Given the description of an element on the screen output the (x, y) to click on. 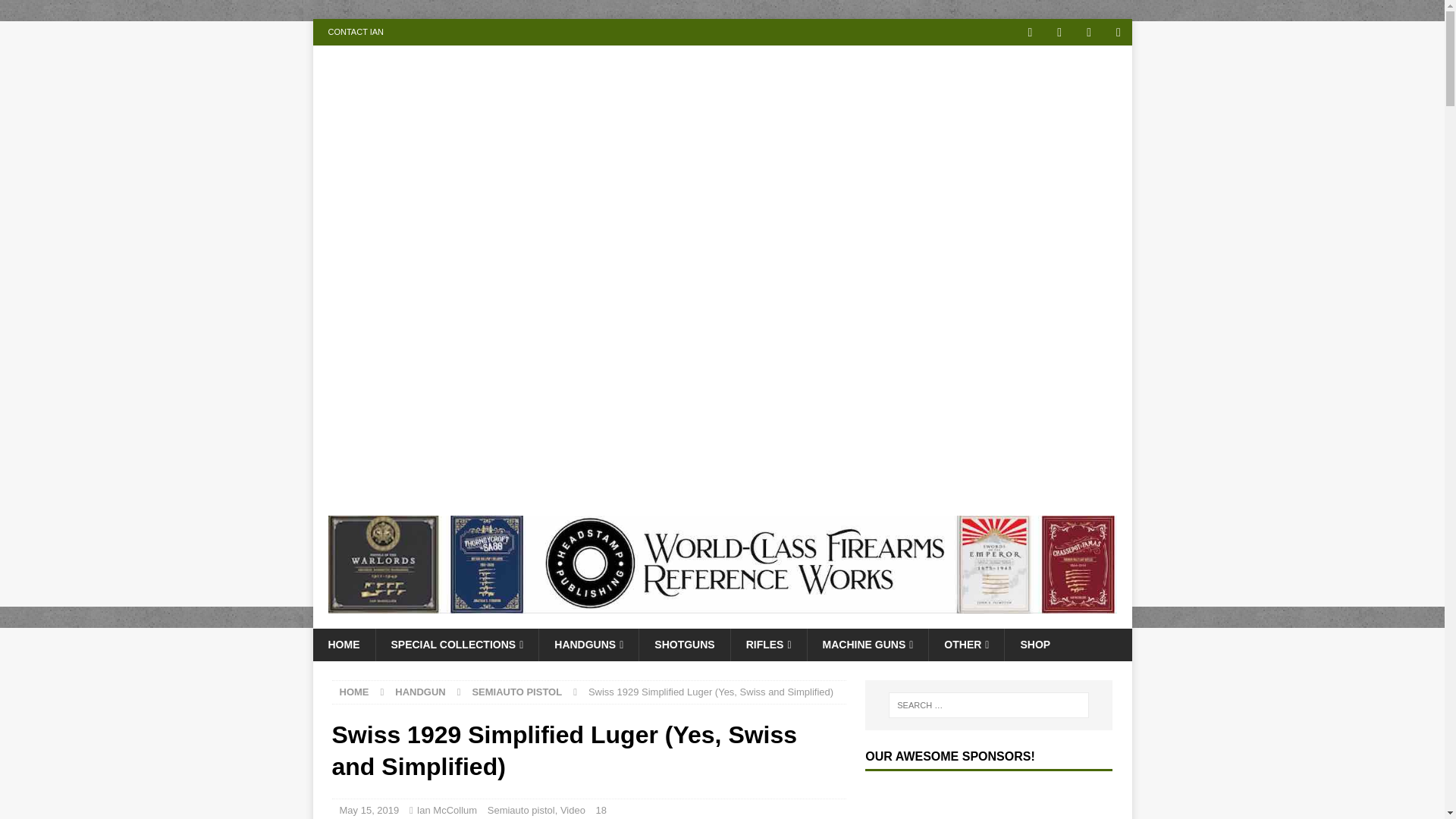
CONTACT IAN (355, 31)
Semiauto pistol (516, 691)
Forgotten Weapons (540, 491)
Home (354, 691)
